Given the description of an element on the screen output the (x, y) to click on. 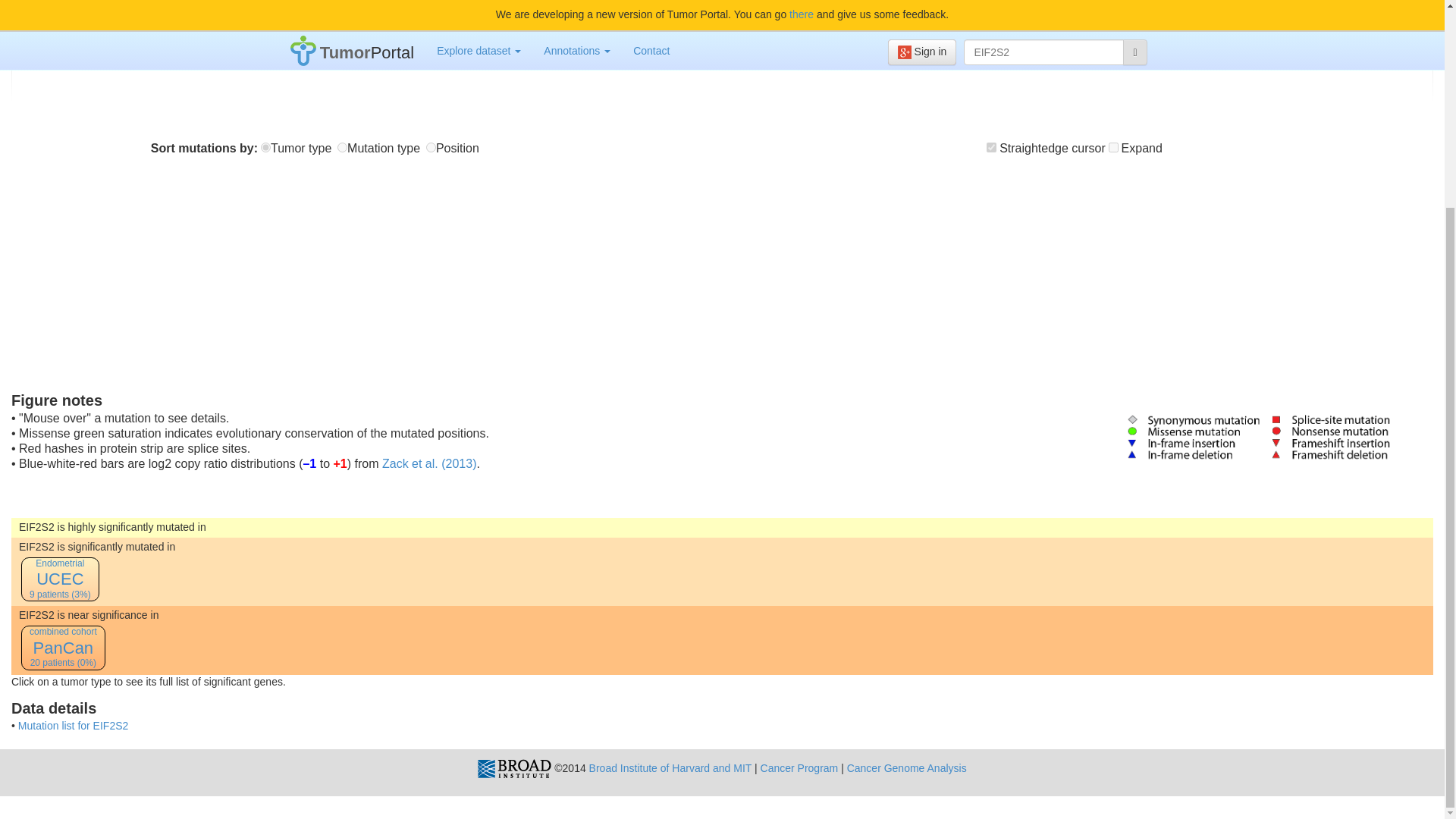
Broad Institute of Harvard and MIT (670, 767)
TumorType (265, 147)
Cancer Program (799, 767)
on (991, 147)
on (1113, 147)
Cancer Genome Analysis (906, 767)
Mutation list for EIF2S2 (73, 725)
MutationType (342, 147)
Position (430, 147)
